Given the description of an element on the screen output the (x, y) to click on. 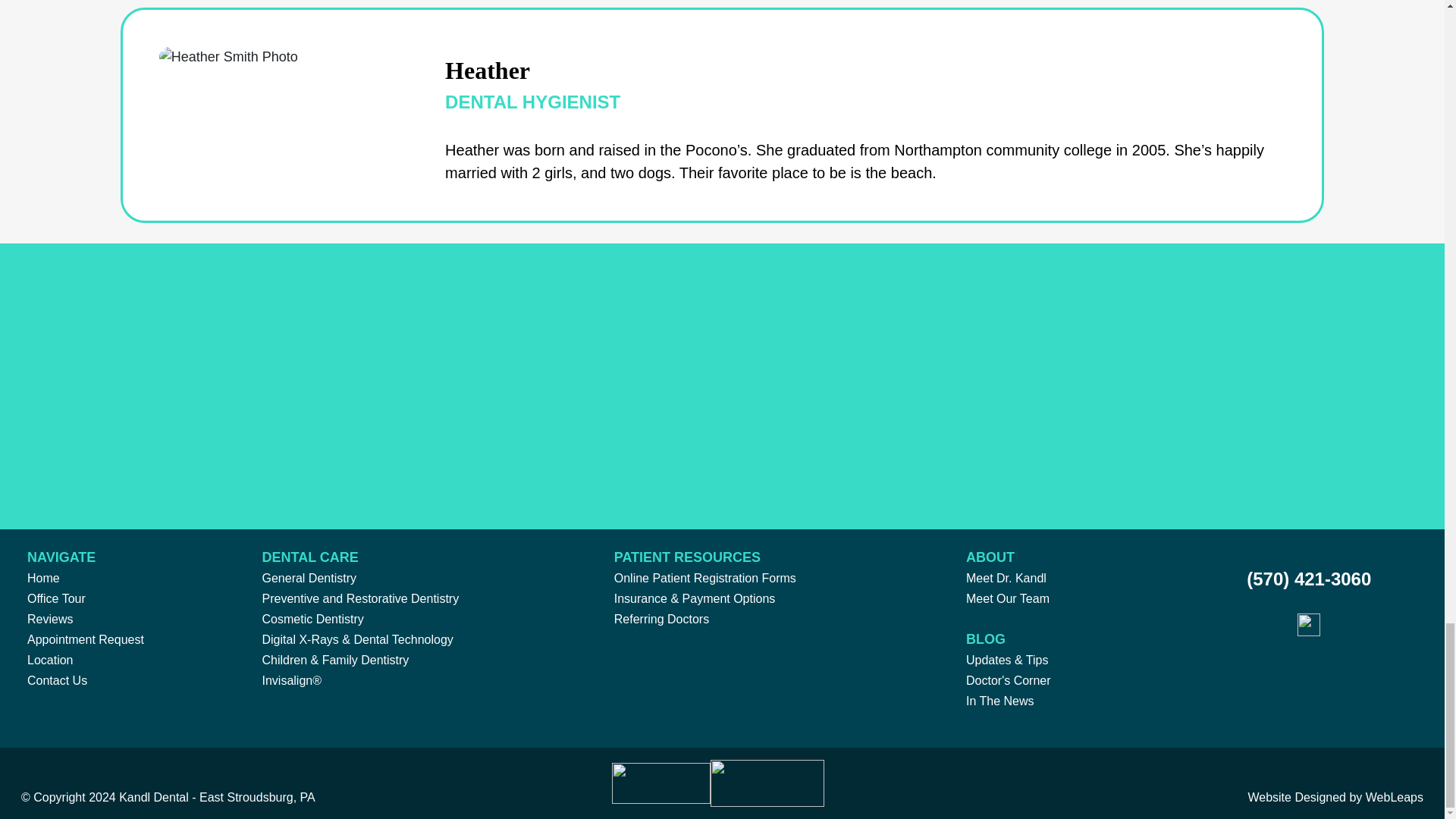
Cosmetic Dentistry (313, 618)
Reviews (49, 618)
Office Tour (56, 598)
General Dentistry (309, 577)
Location (50, 659)
Home (43, 577)
Contact Us (57, 680)
Appointment Request (85, 639)
Preventive and Restorative Dentistry (361, 598)
